Given the description of an element on the screen output the (x, y) to click on. 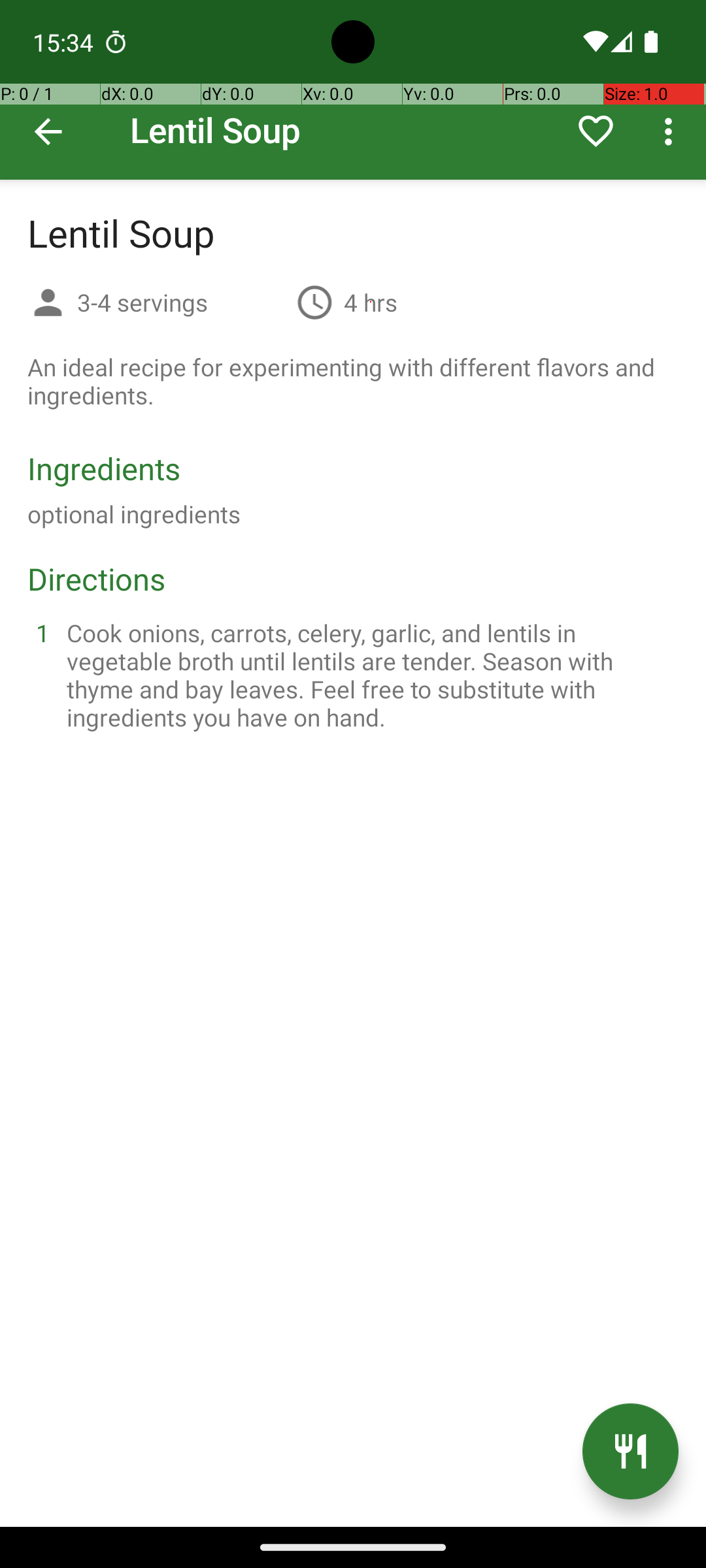
Cook onions, carrots, celery, garlic, and lentils in vegetable broth until lentils are tender. Season with thyme and bay leaves. Feel free to substitute with ingredients you have on hand. Element type: android.widget.TextView (368, 674)
